Given the description of an element on the screen output the (x, y) to click on. 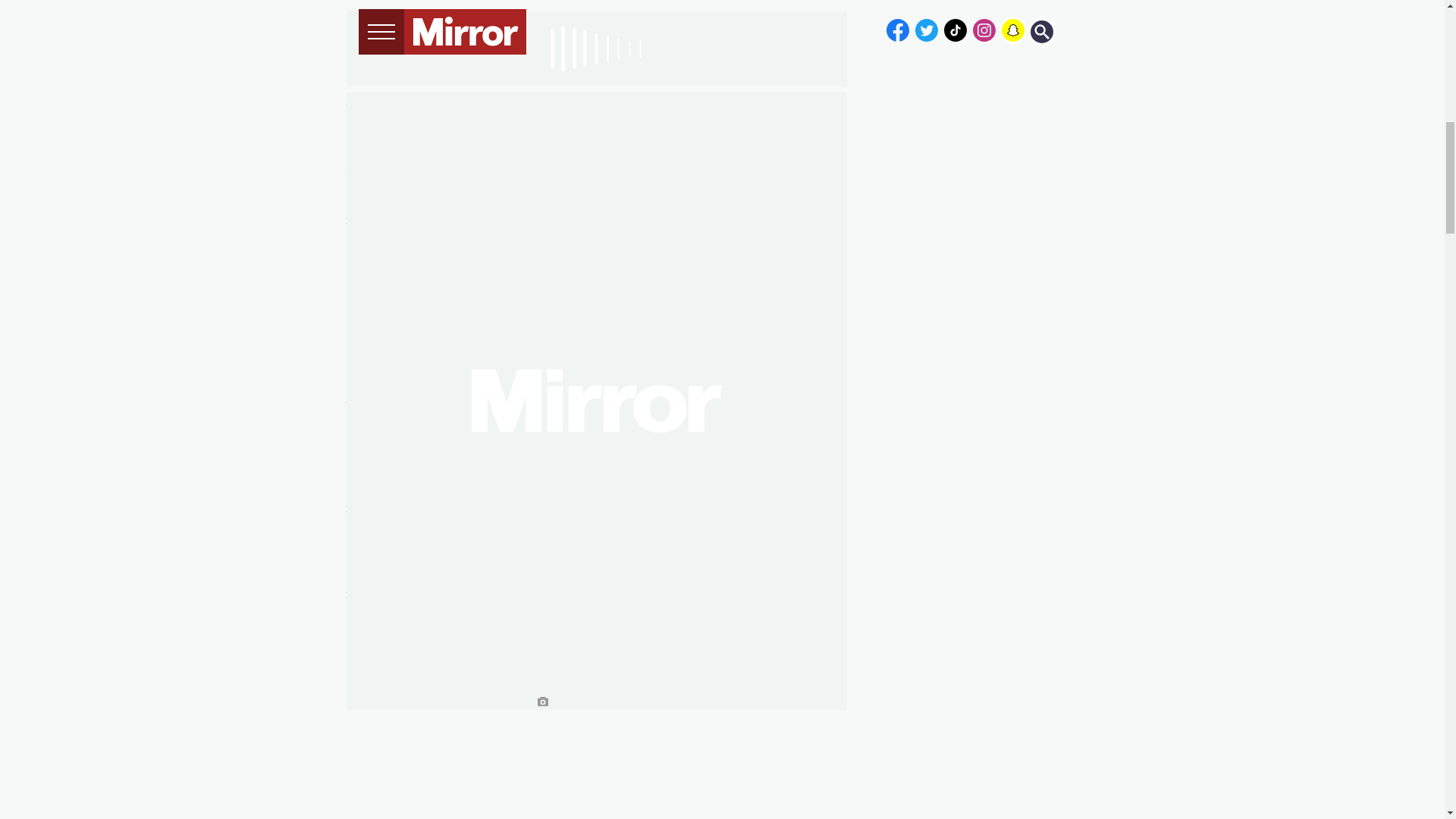
Police (365, 146)
West Yorkshire Police (412, 406)
sex worker (458, 101)
hospital (411, 192)
Christmas (447, 119)
